Given the description of an element on the screen output the (x, y) to click on. 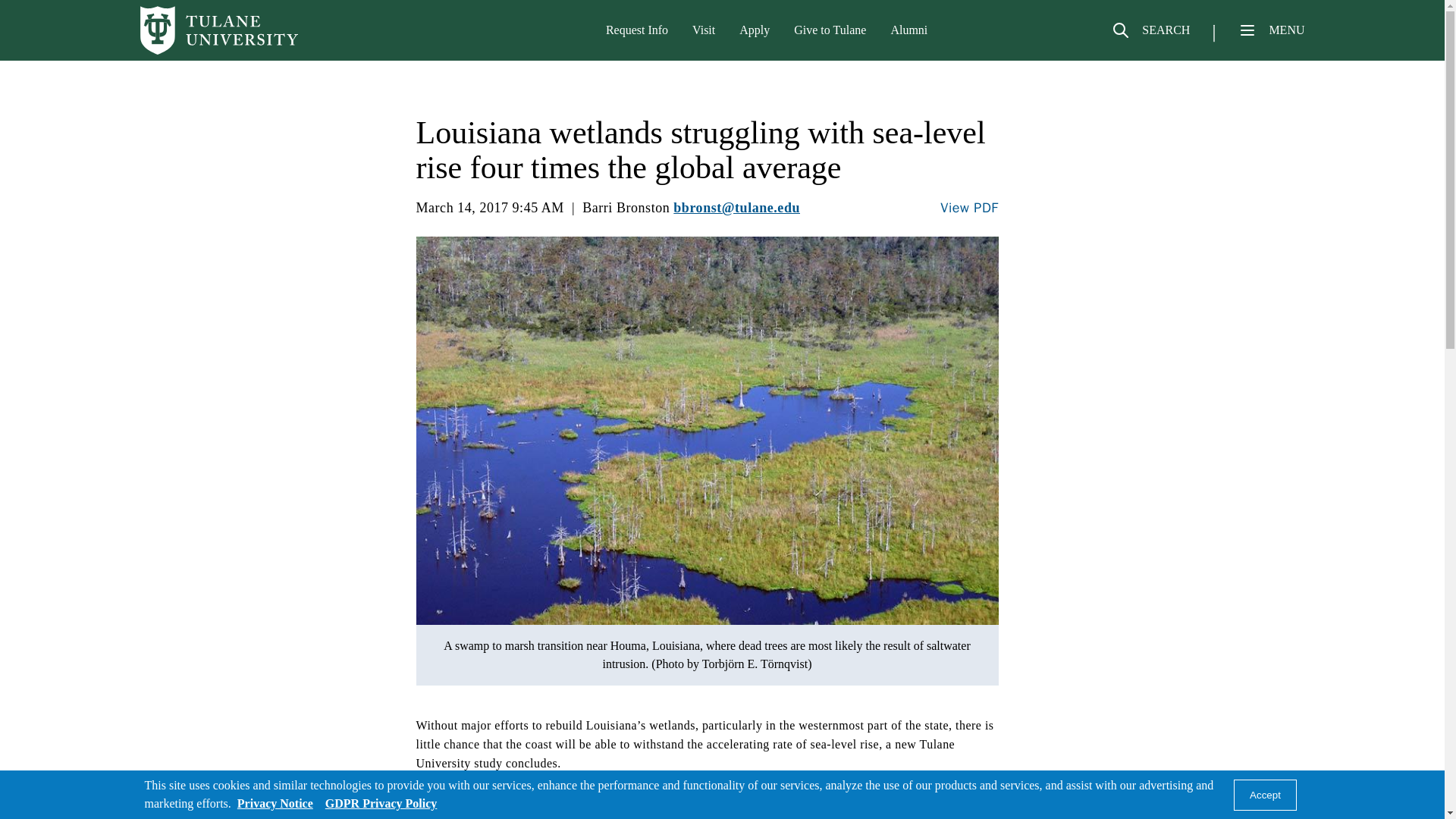
Apply (754, 29)
Visit (703, 29)
Alumni (908, 29)
Privacy Notice (275, 802)
Nature Communications (587, 812)
Request Info (636, 29)
GDPR Privacy Policy (381, 802)
View PDF (968, 207)
Accept (1265, 794)
Give to Tulane (829, 29)
Home (218, 29)
SEARCH (1150, 36)
